Given the description of an element on the screen output the (x, y) to click on. 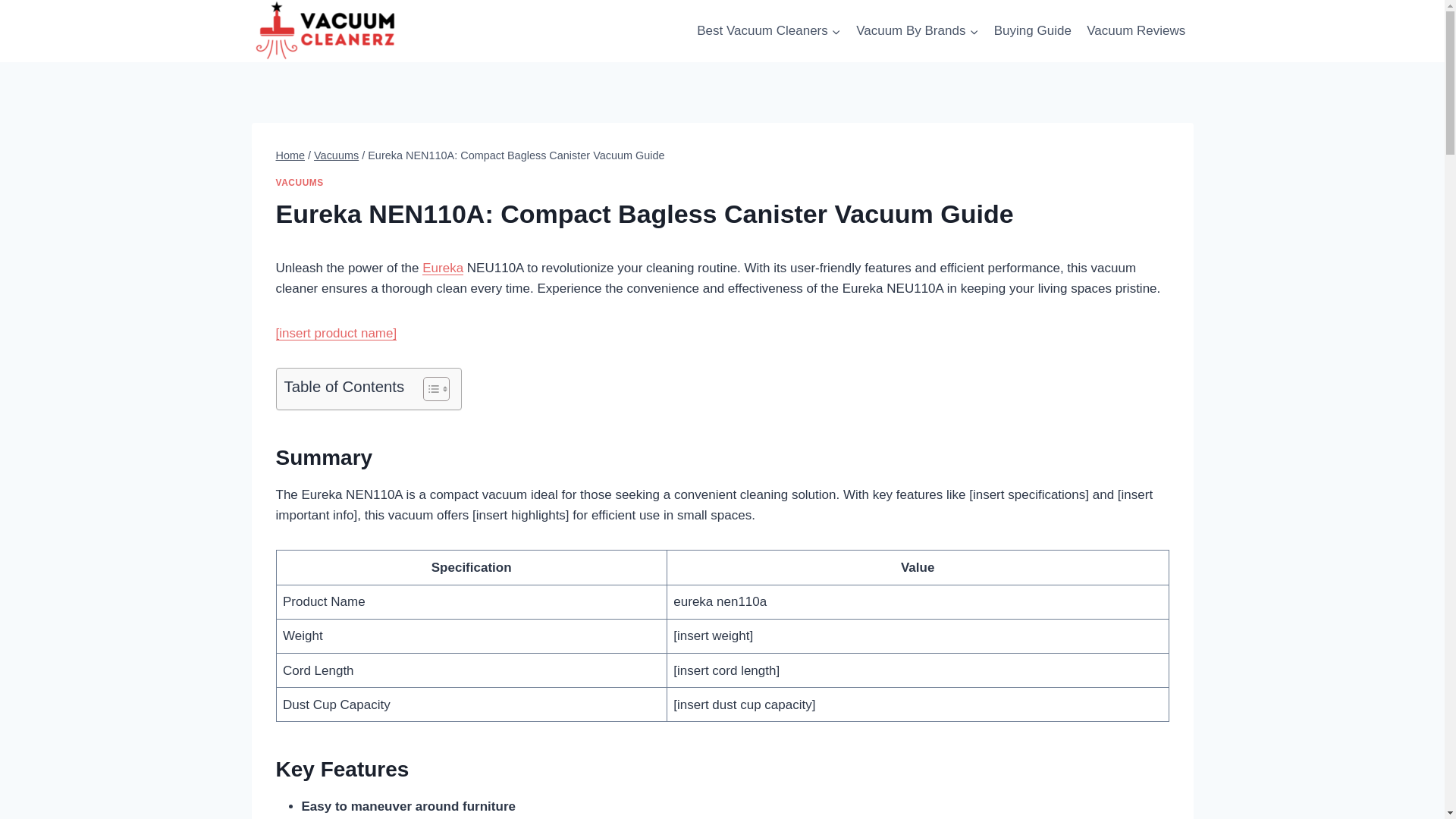
Eureka (442, 268)
Vacuum By Brands (917, 31)
Buying Guide (1032, 31)
Best Vacuum Cleaners (768, 31)
VACUUMS (299, 182)
Vacuums (336, 155)
Home (290, 155)
Vacuum Reviews (1135, 31)
